Given the description of an element on the screen output the (x, y) to click on. 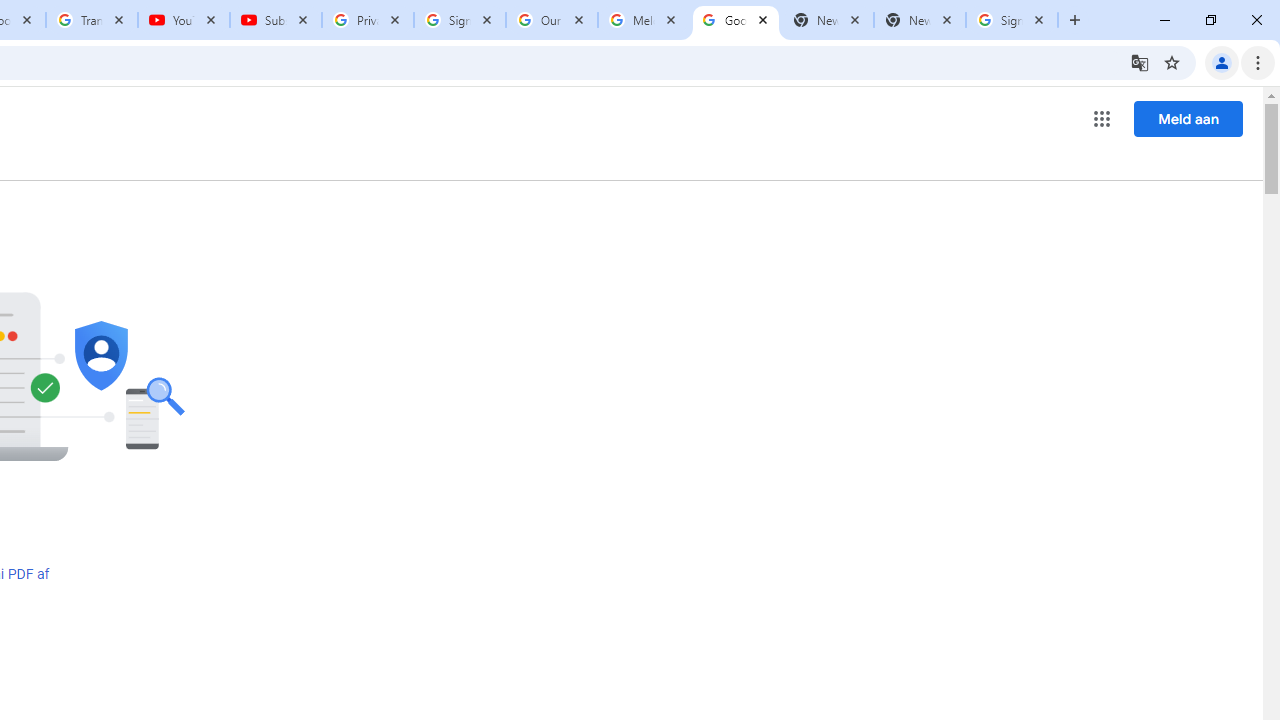
Meld aan (1188, 118)
Subscriptions - YouTube (276, 20)
Sign in - Google Accounts (1012, 20)
YouTube (184, 20)
Translate this page (1139, 62)
New Tab (920, 20)
